Given the description of an element on the screen output the (x, y) to click on. 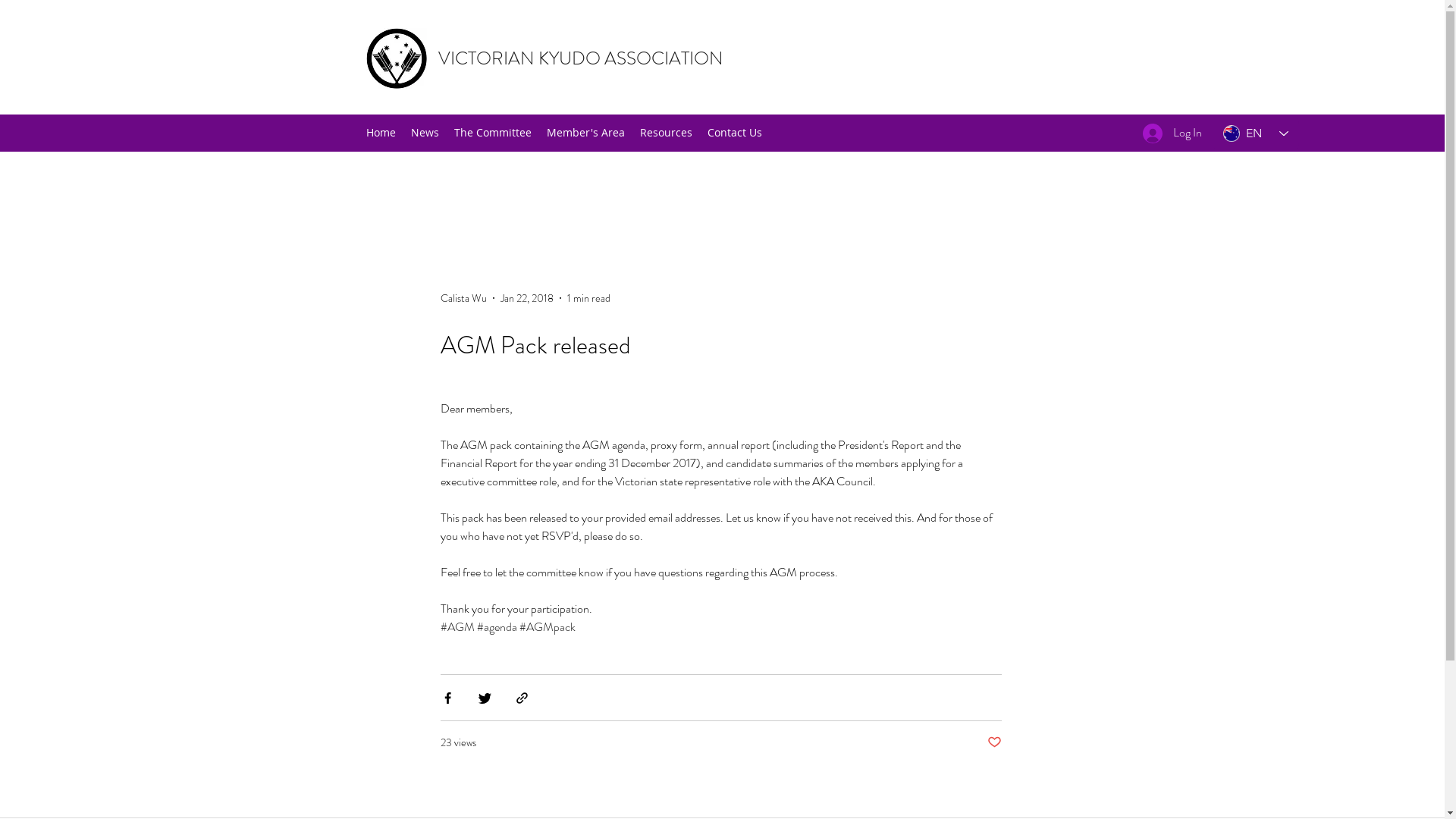
Contact Us Element type: text (733, 132)
Calista Wu Element type: text (463, 298)
Post not marked as liked Element type: text (994, 742)
#agenda Element type: text (496, 626)
Home Element type: text (379, 132)
#AGM Element type: text (457, 626)
Resources Element type: text (665, 132)
The Committee Element type: text (491, 132)
News Element type: text (424, 132)
Member's Area Element type: text (584, 132)
Log In Element type: text (1171, 133)
#AGMpack Element type: text (547, 626)
